Given the description of an element on the screen output the (x, y) to click on. 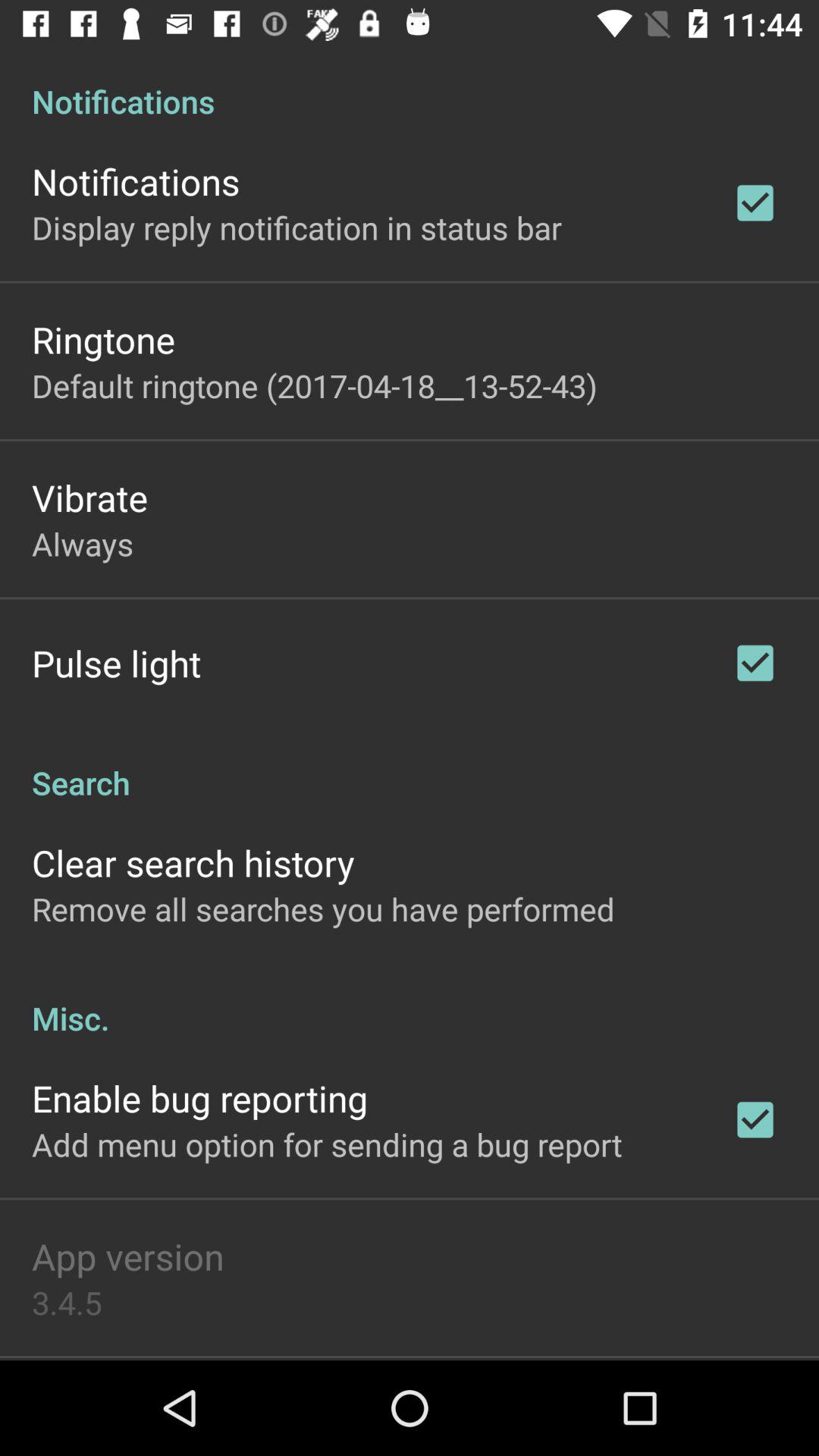
turn on the app above app version app (326, 1143)
